Given the description of an element on the screen output the (x, y) to click on. 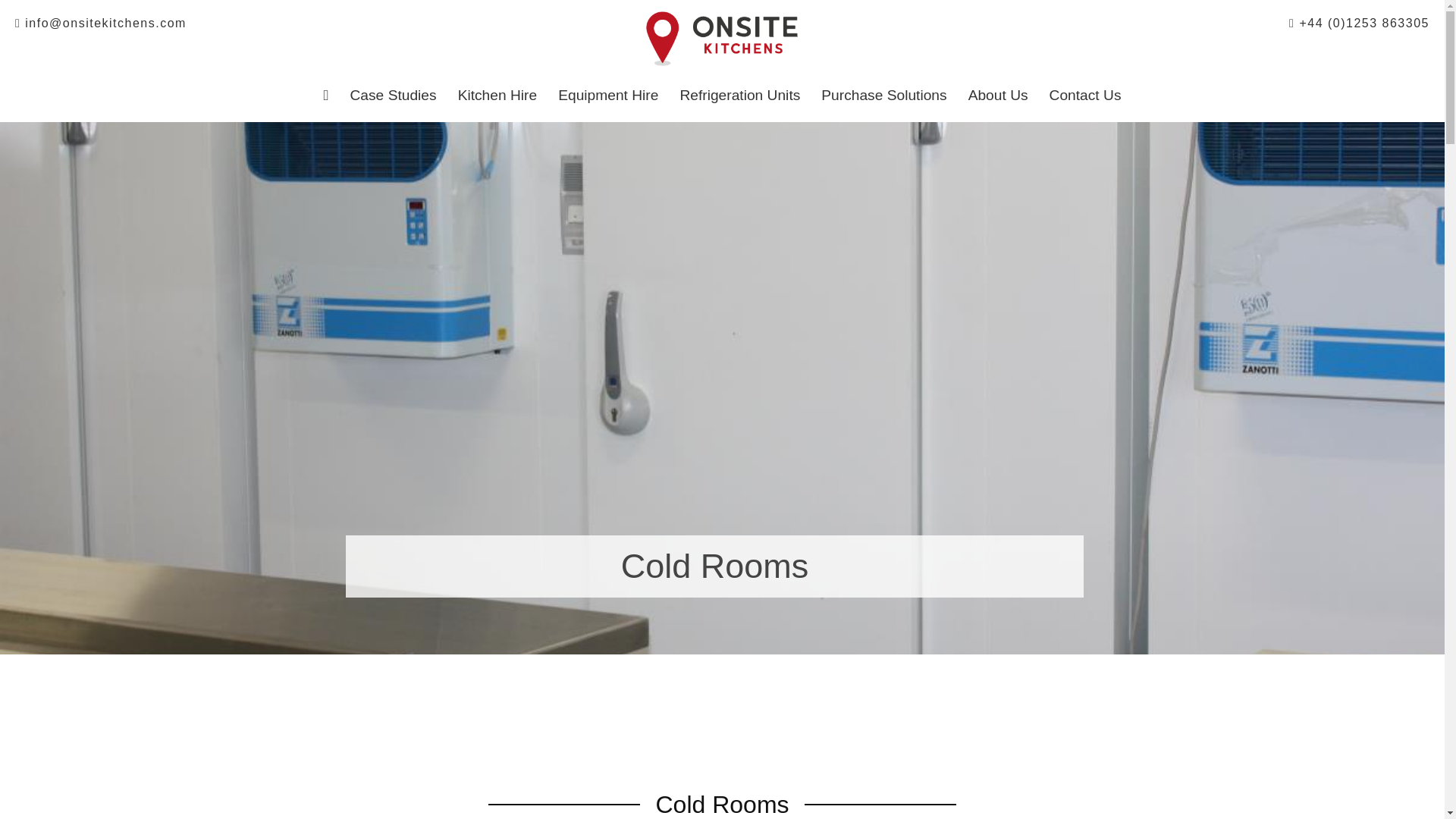
Contact Us (1085, 95)
Bespoke Purchase Solutions (883, 95)
Refrigeration Units (739, 95)
Catering Equipment Hire (607, 95)
Temporary Kitchen Hire (497, 95)
Case Studies (497, 95)
About Us (739, 95)
